Given the description of an element on the screen output the (x, y) to click on. 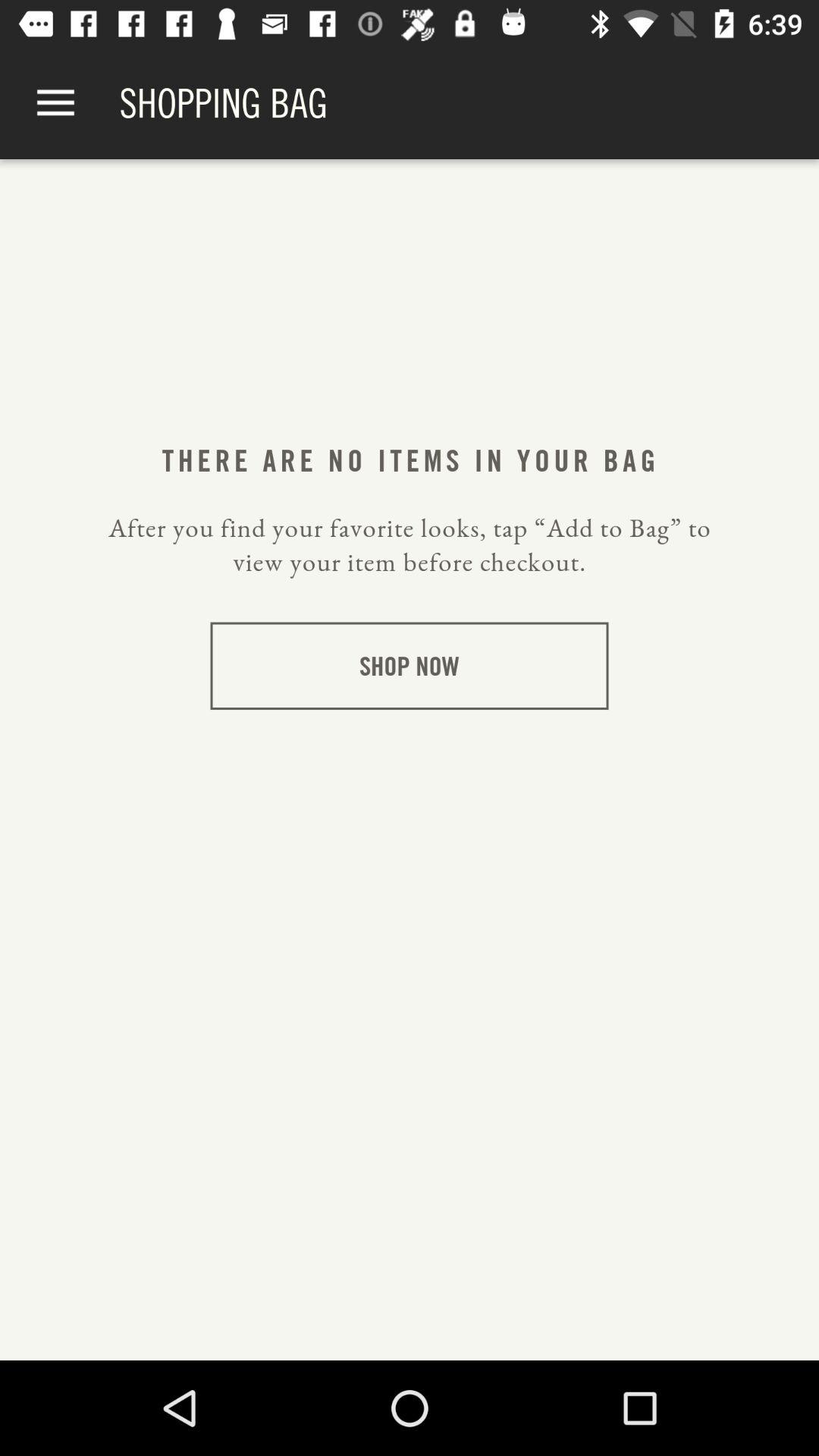
select item above the after you find item (409, 459)
